Given the description of an element on the screen output the (x, y) to click on. 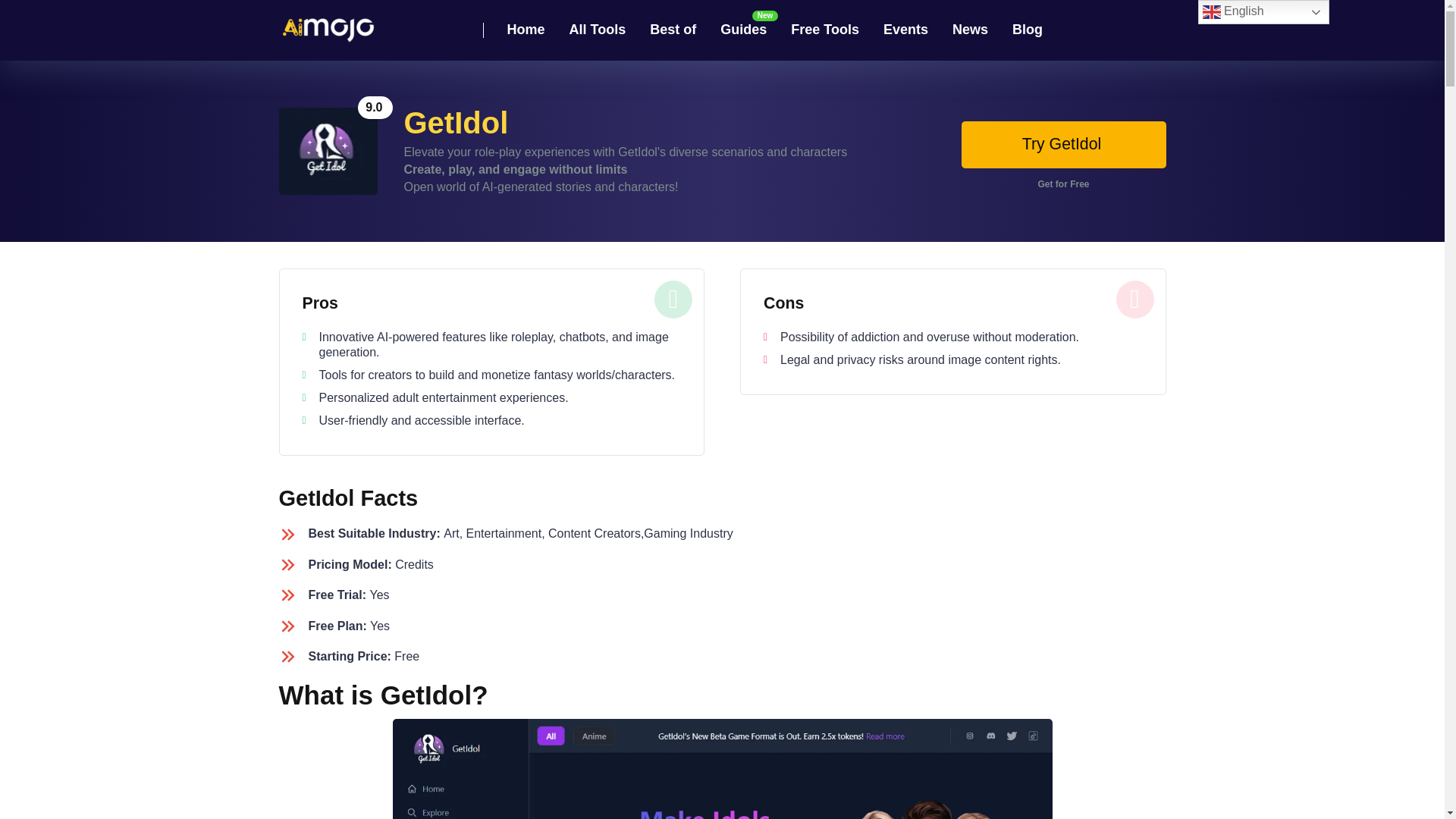
Free Tools (824, 30)
Home (525, 30)
Try GetIdol (1063, 144)
Best of (672, 30)
Guides (742, 30)
Try GetIdol (1063, 144)
News (970, 30)
Events (905, 30)
All Tools (598, 30)
Blog (1027, 30)
AI Mojo (328, 24)
